Given the description of an element on the screen output the (x, y) to click on. 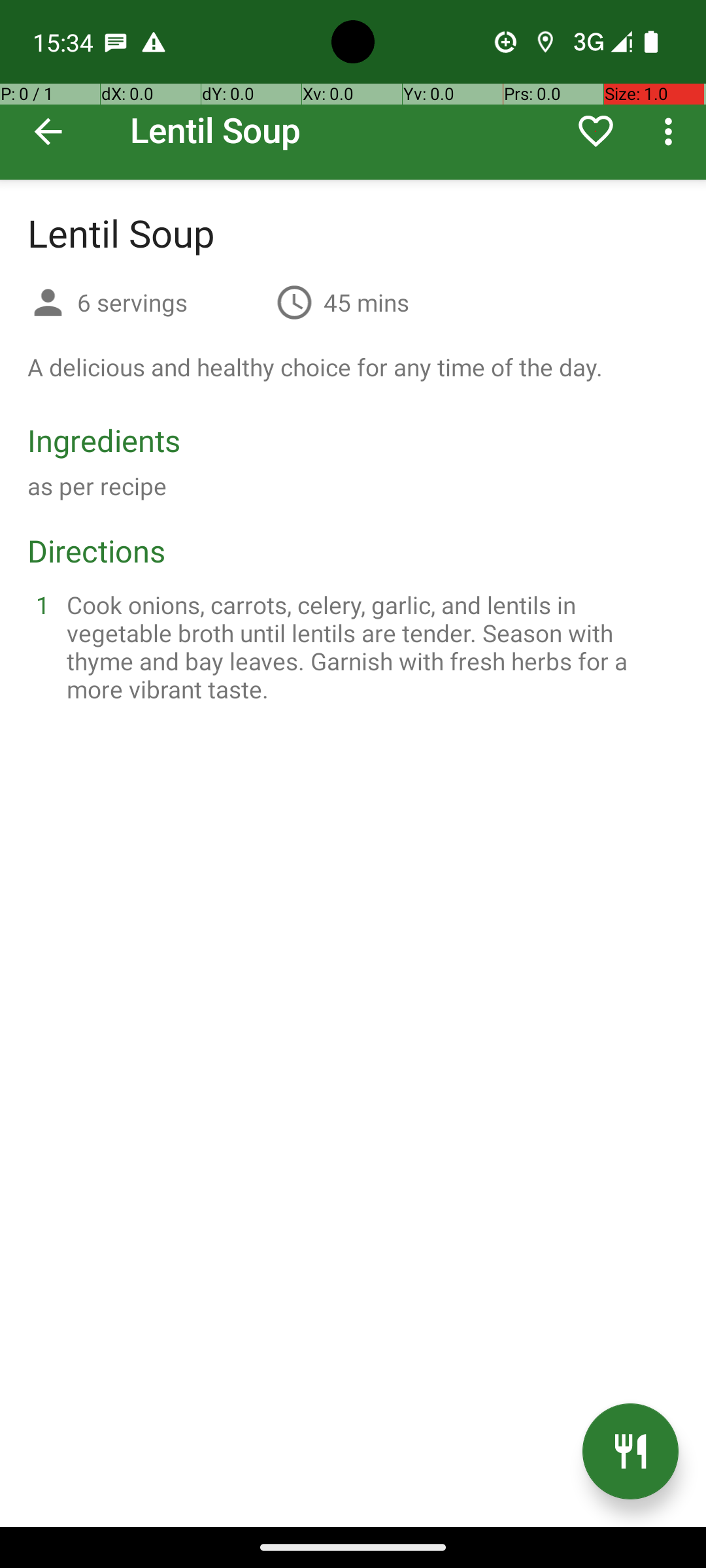
45 mins Element type: android.widget.TextView (366, 301)
as per recipe Element type: android.widget.TextView (96, 485)
Cook onions, carrots, celery, garlic, and lentils in vegetable broth until lentils are tender. Season with thyme and bay leaves. Garnish with fresh herbs for a more vibrant taste. Element type: android.widget.TextView (368, 646)
